Given the description of an element on the screen output the (x, y) to click on. 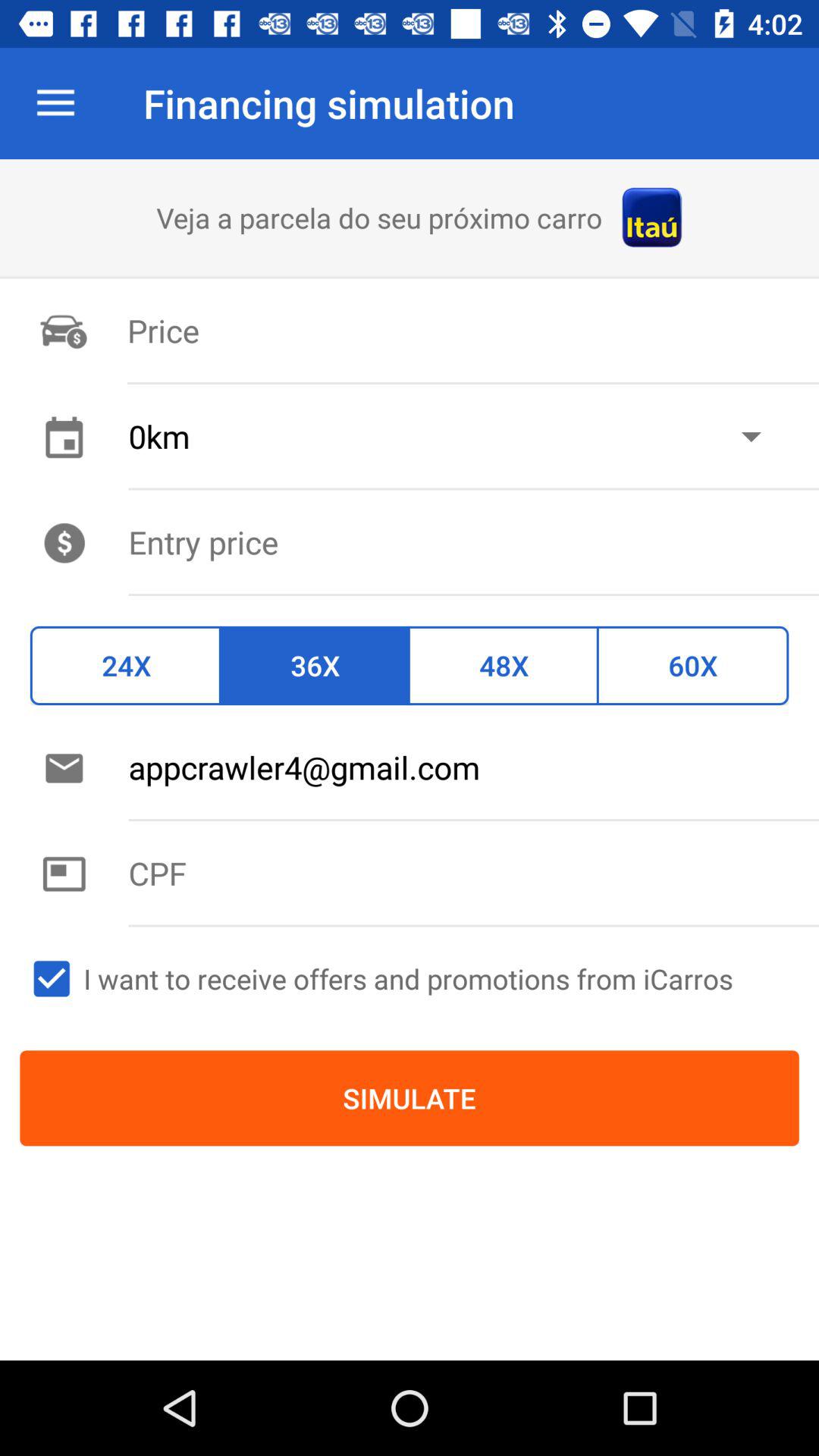
menu page (473, 541)
